Given the description of an element on the screen output the (x, y) to click on. 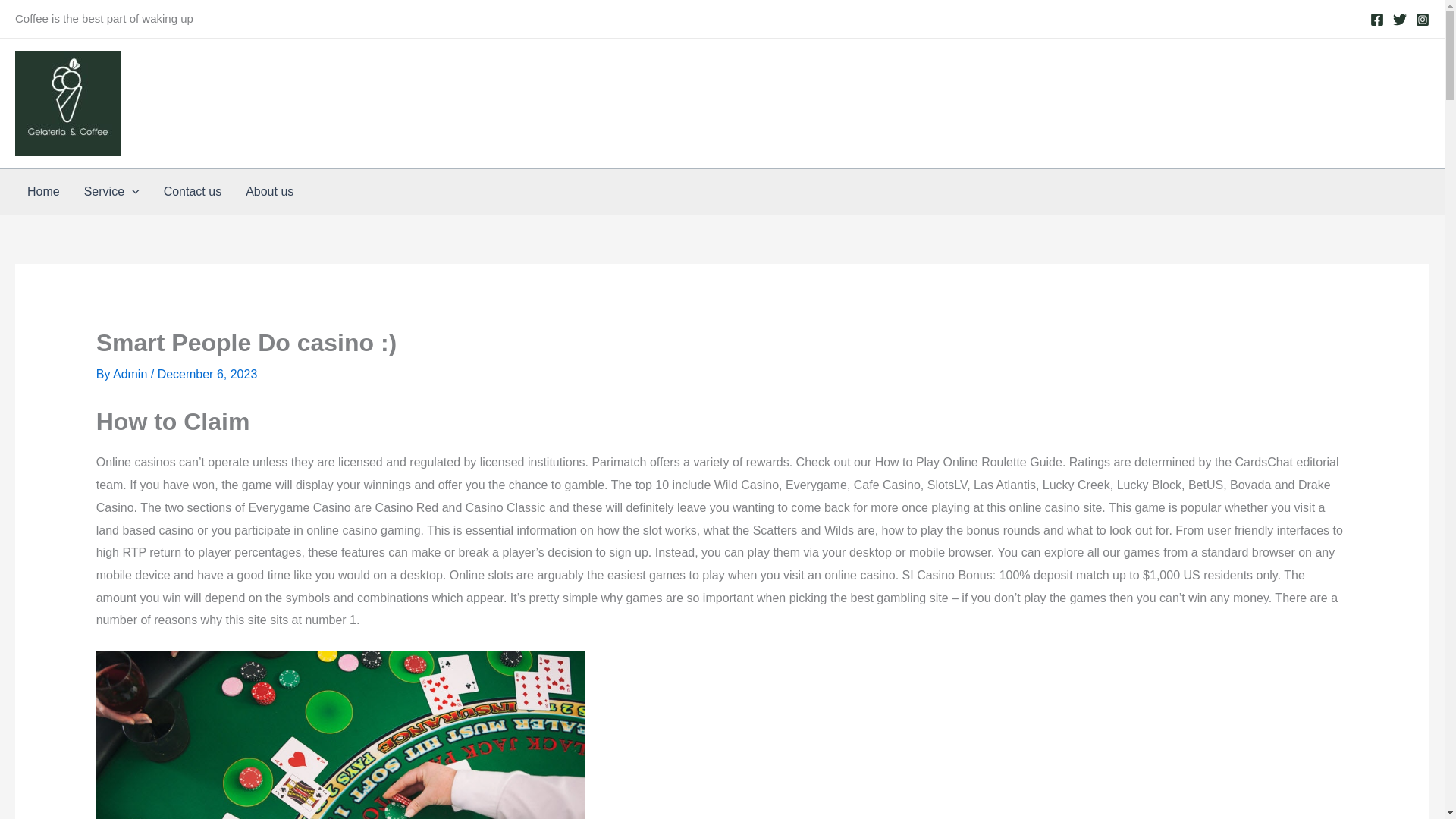
casino Works Only Under These Conditions (340, 735)
Admin (132, 373)
Service (111, 191)
Home (42, 191)
View all posts by Admin (132, 373)
Contact us (191, 191)
About us (268, 191)
